Given the description of an element on the screen output the (x, y) to click on. 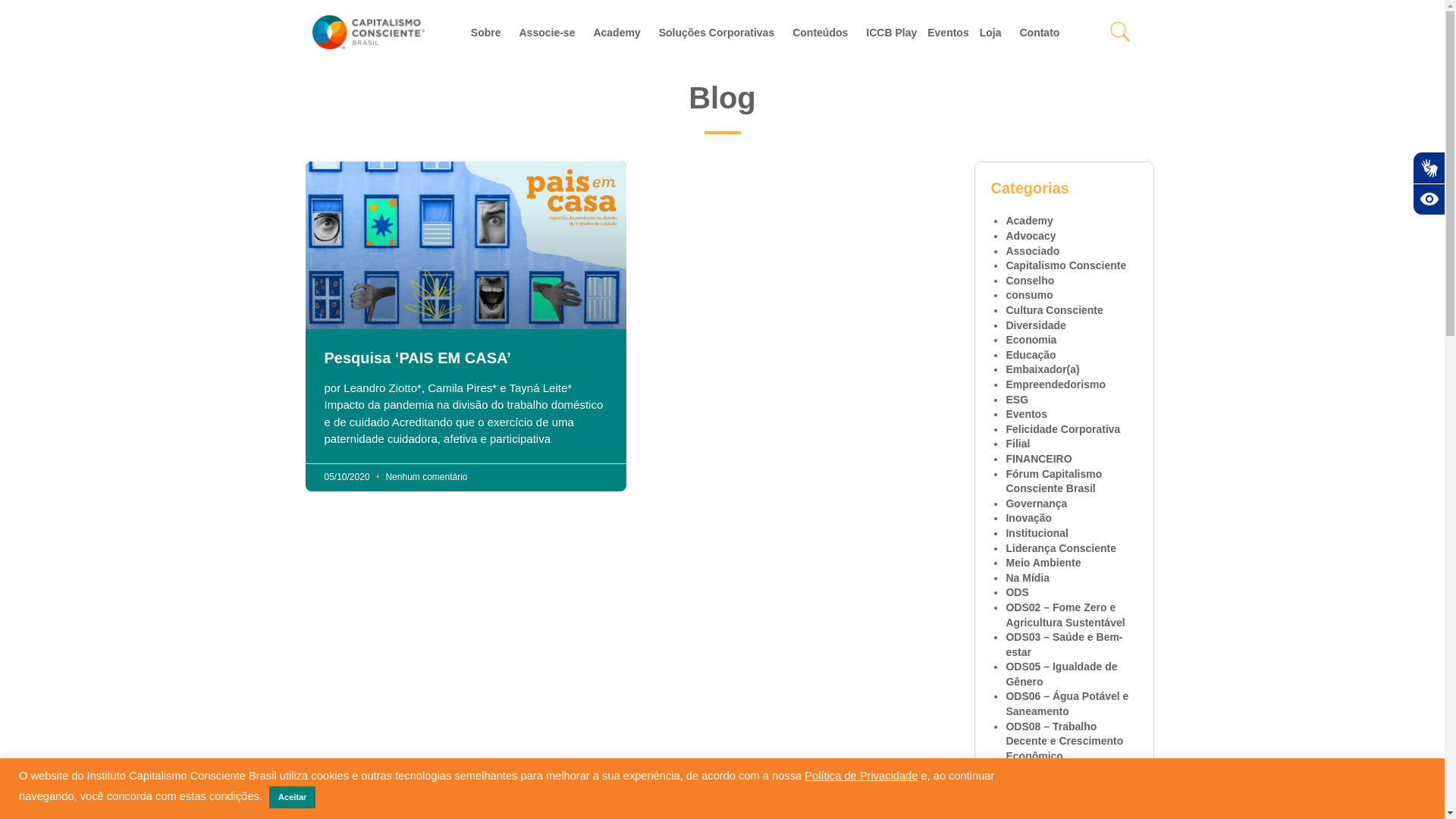
Embaixador(a) Element type: text (1042, 369)
consumo Element type: text (1028, 294)
Meio Ambiente Element type: text (1042, 562)
Academy Element type: text (619, 32)
Economia Element type: text (1030, 339)
Eventos Element type: text (947, 32)
Loja Element type: text (994, 32)
Empreendedorismo Element type: text (1054, 384)
Conselho Element type: text (1029, 280)
Advocacy Element type: text (1030, 235)
ICCB Play Element type: text (891, 32)
Eventos Element type: text (1025, 413)
Academy Element type: text (1028, 220)
Institucional Element type: text (1036, 533)
FINANCEIRO Element type: text (1038, 458)
Associado Element type: text (1032, 250)
Sobre Element type: text (489, 32)
Filial Element type: text (1017, 443)
Felicidade Corporativa Element type: text (1062, 429)
Contato Element type: text (1042, 32)
Diversidade Element type: text (1035, 325)
ODS Element type: text (1016, 592)
ESG Element type: text (1016, 399)
Capitalismo Consciente Element type: text (1065, 265)
Cultura Consciente Element type: text (1053, 310)
Associe-se Element type: text (550, 32)
Aceitar Element type: text (292, 797)
